Given the description of an element on the screen output the (x, y) to click on. 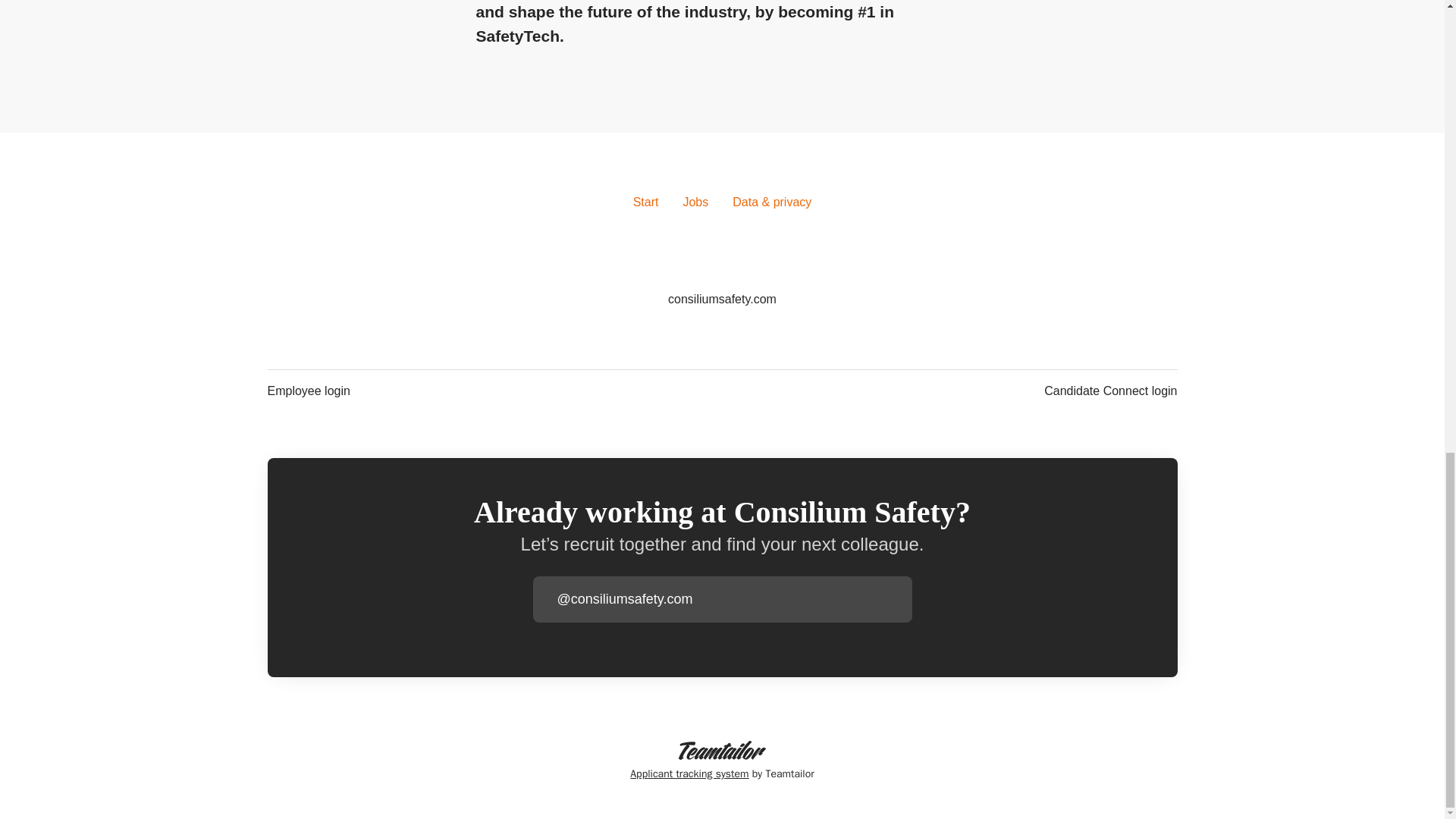
Start (646, 202)
Employee login (307, 391)
Log in (899, 598)
Jobs (694, 202)
consiliumsafety.com (722, 299)
Candidate Connect login (1109, 391)
Applicant tracking system by Teamtailor (721, 760)
